Given the description of an element on the screen output the (x, y) to click on. 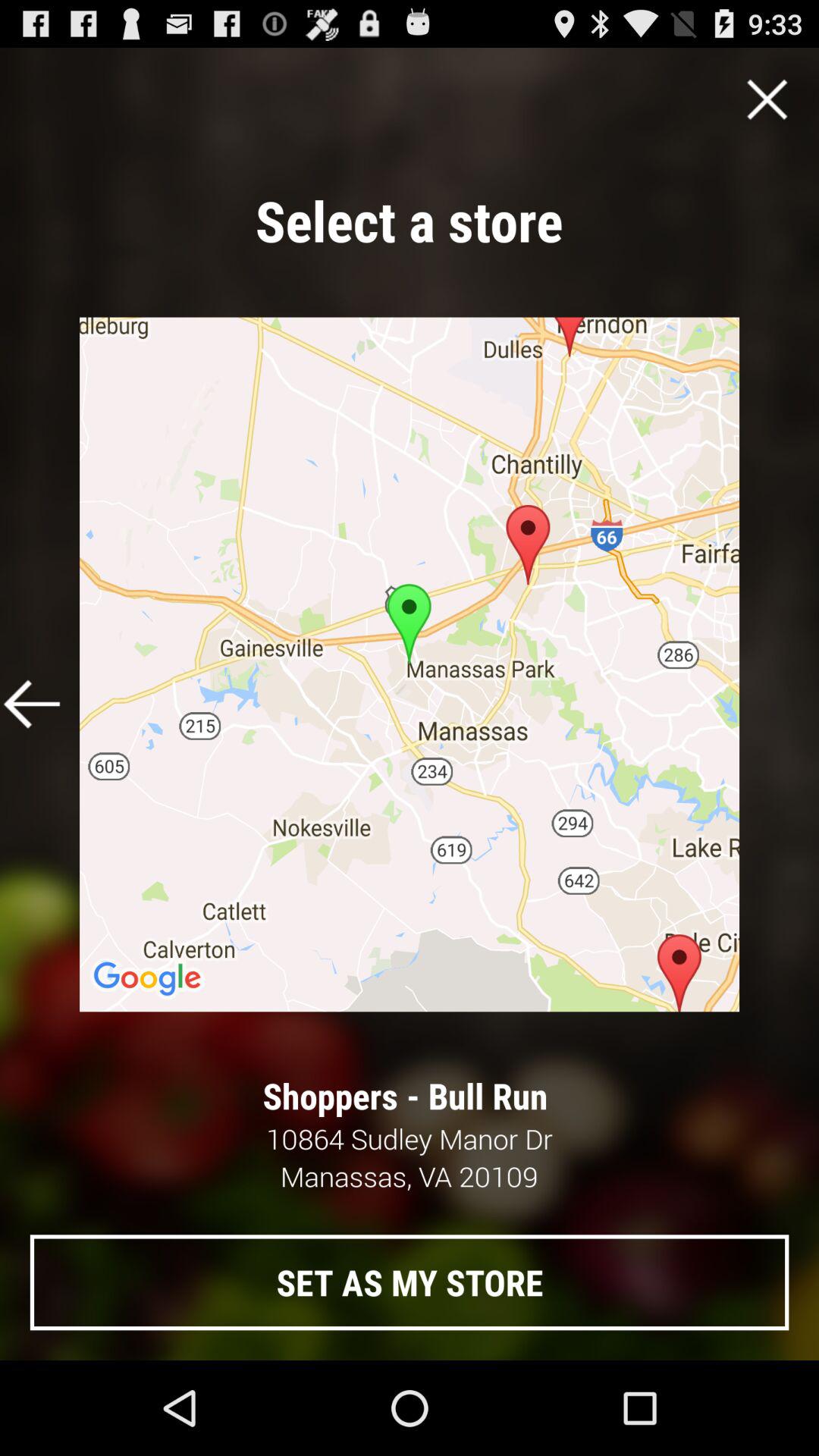
go previojs page (31, 703)
